Given the description of an element on the screen output the (x, y) to click on. 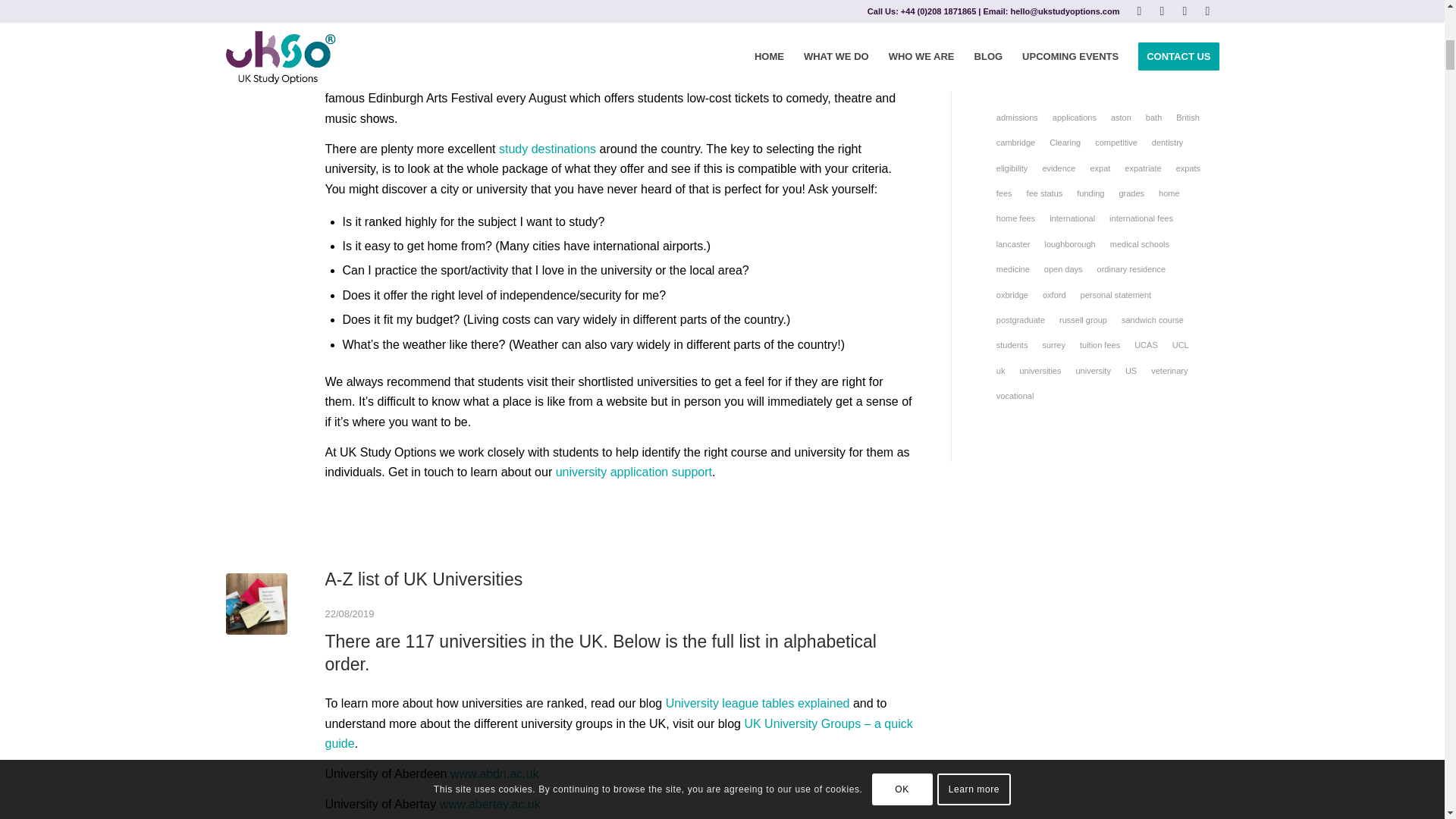
www.abdn.ac.uk (493, 773)
Unis list (255, 603)
University league tables explained (757, 703)
Permanent Link: A-Z list of UK Universities (423, 578)
www.abertay.ac.uk (489, 803)
University of Edinburgh (386, 58)
A-Z list of UK Universities (423, 578)
university application support (633, 472)
study destinations (547, 148)
